Given the description of an element on the screen output the (x, y) to click on. 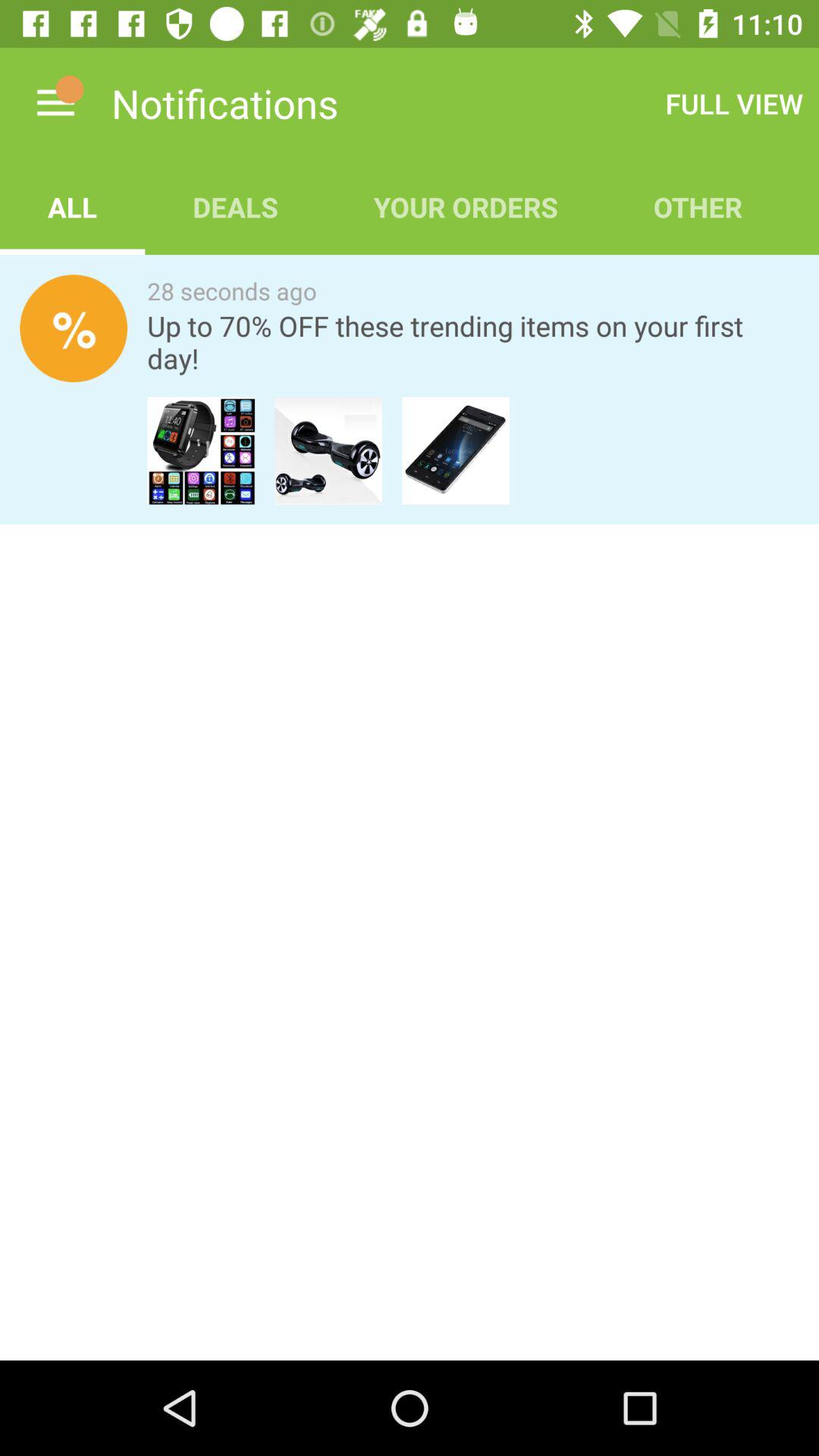
click item above other app (734, 103)
